Given the description of an element on the screen output the (x, y) to click on. 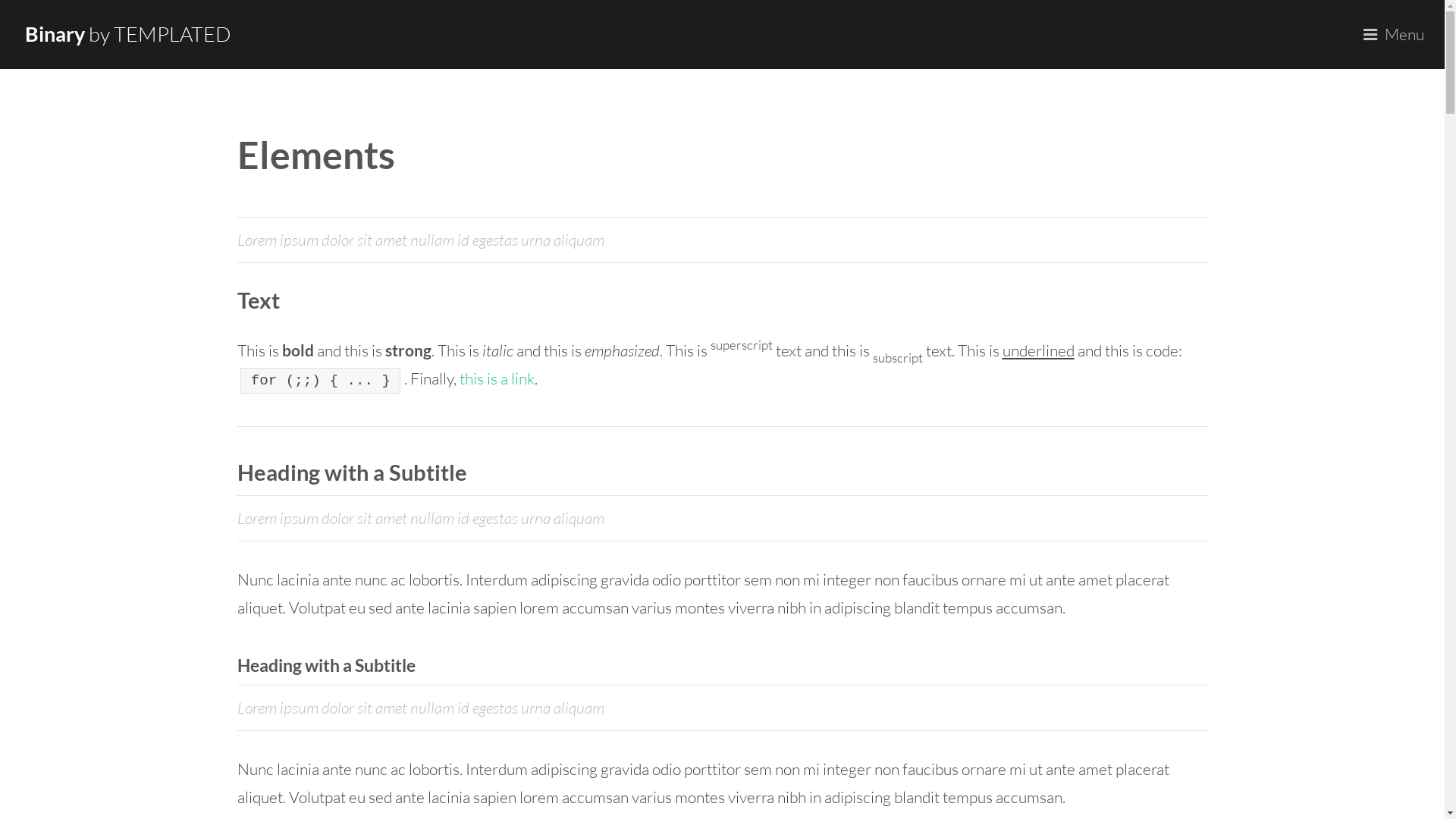
Binary by TEMPLATED Element type: text (128, 34)
Menu Element type: text (1397, 34)
this is a link Element type: text (496, 378)
